Given the description of an element on the screen output the (x, y) to click on. 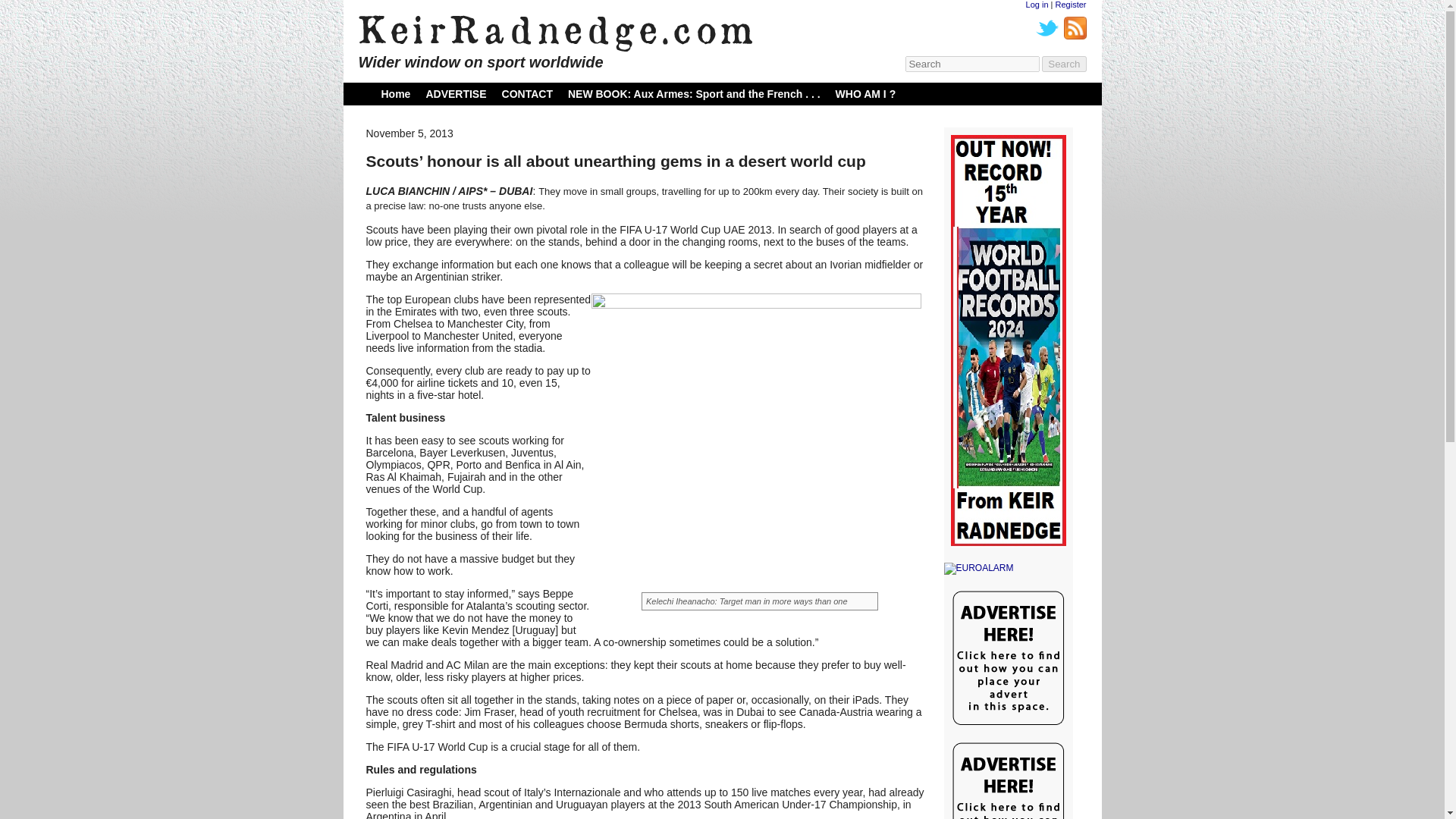
Search (1064, 64)
EUROALARM (1007, 568)
Register (1070, 4)
NEW BOOK: Aux Armes: Sport and the French . . . (694, 93)
Home (395, 93)
kelechiFR (756, 454)
Log in (1037, 4)
WHO AM I ? (865, 93)
Search (1064, 64)
ADVERTISE (455, 93)
CONTACT (527, 93)
